Given the description of an element on the screen output the (x, y) to click on. 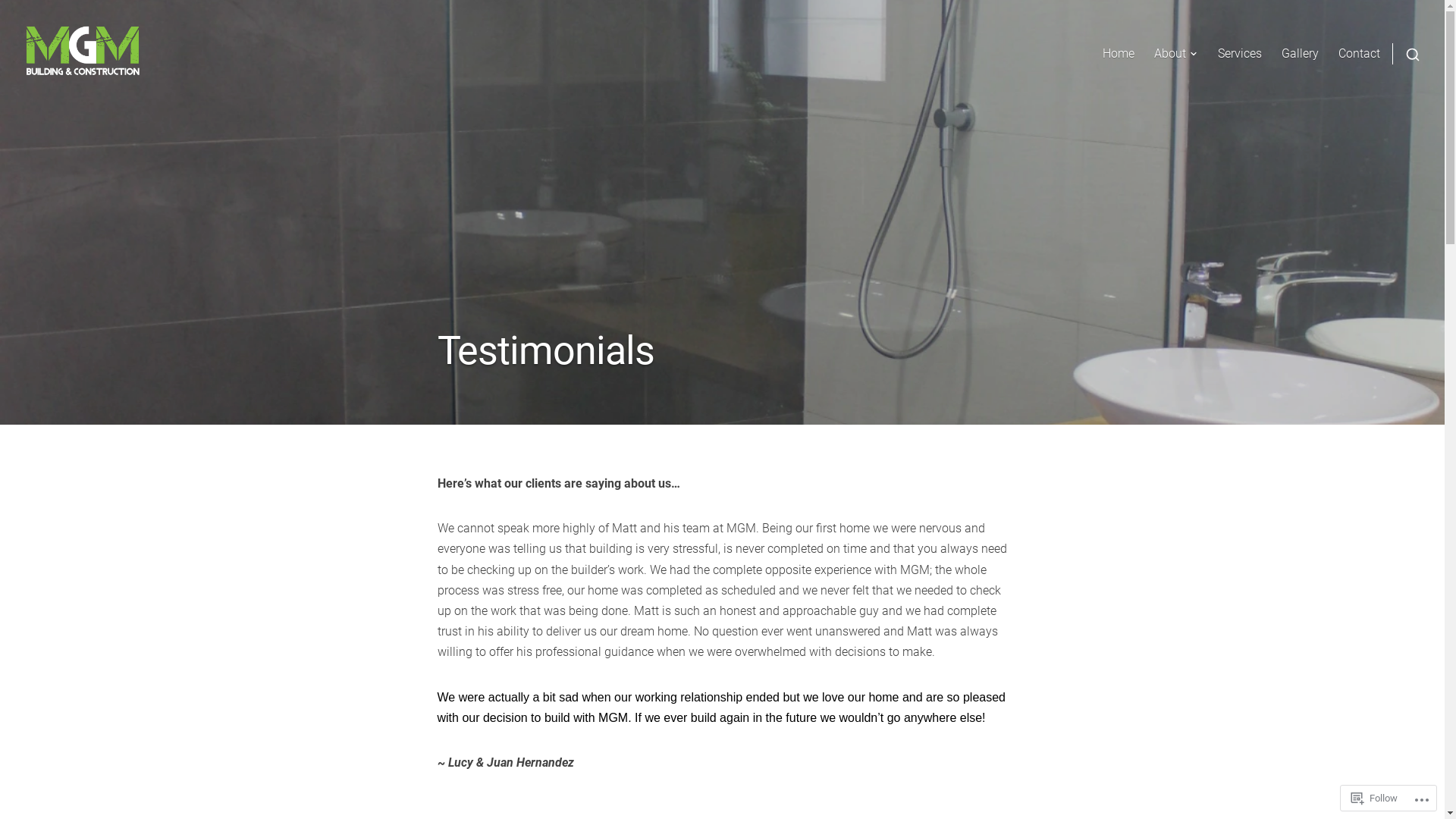
About Element type: text (1176, 53)
Services Element type: text (1239, 53)
Contact Element type: text (1359, 53)
Follow Element type: text (1374, 797)
Home Element type: text (1118, 53)
Gallery Element type: text (1299, 53)
